Given the description of an element on the screen output the (x, y) to click on. 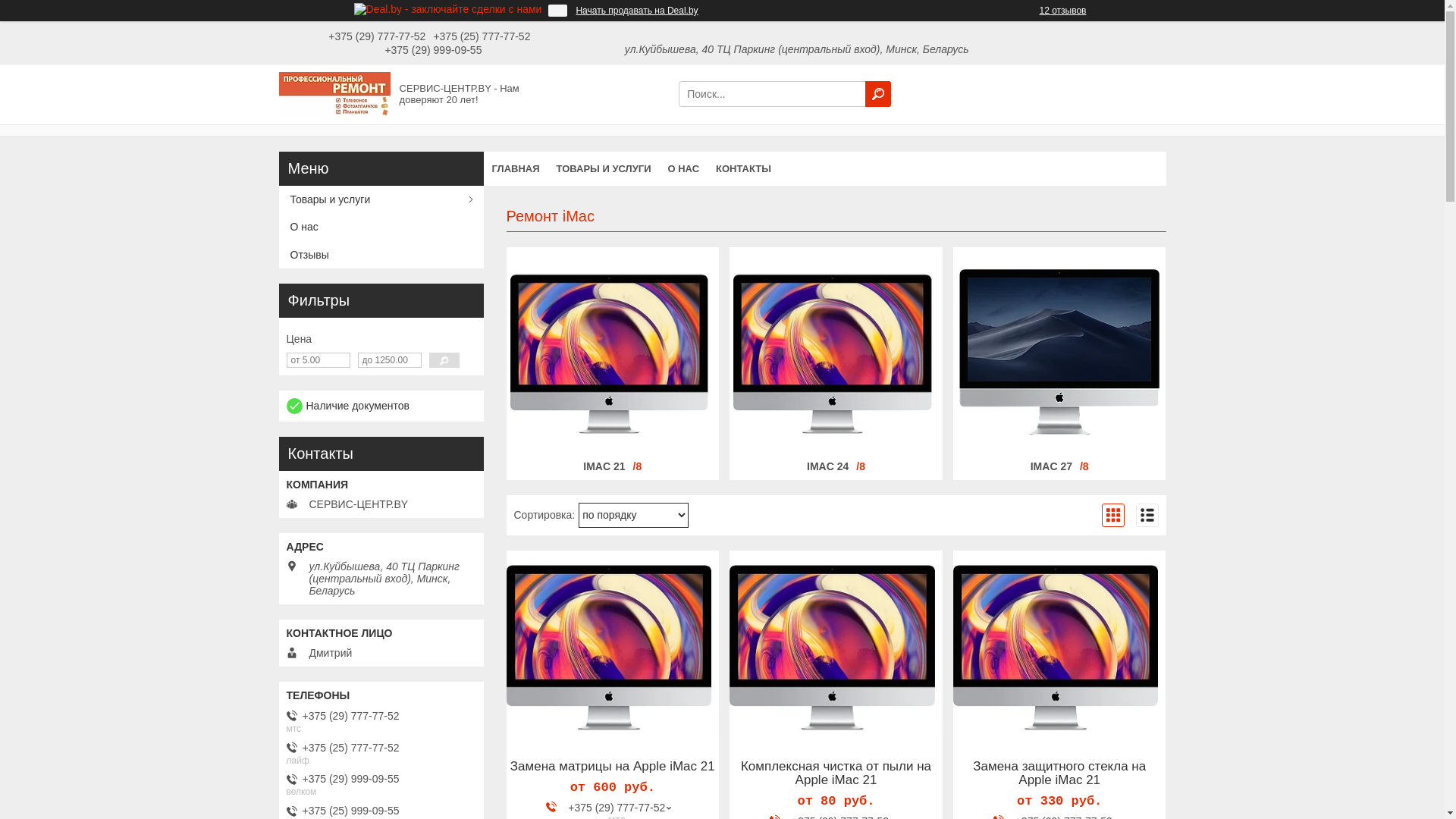
iMac 24 Element type: hover (835, 351)
iMac 27 Element type: hover (1059, 351)
IMAC 24 Element type: text (827, 466)
IMAC 27 Element type: text (1051, 466)
iMac 21 Element type: hover (612, 351)
IMAC 21 Element type: text (603, 466)
